Given the description of an element on the screen output the (x, y) to click on. 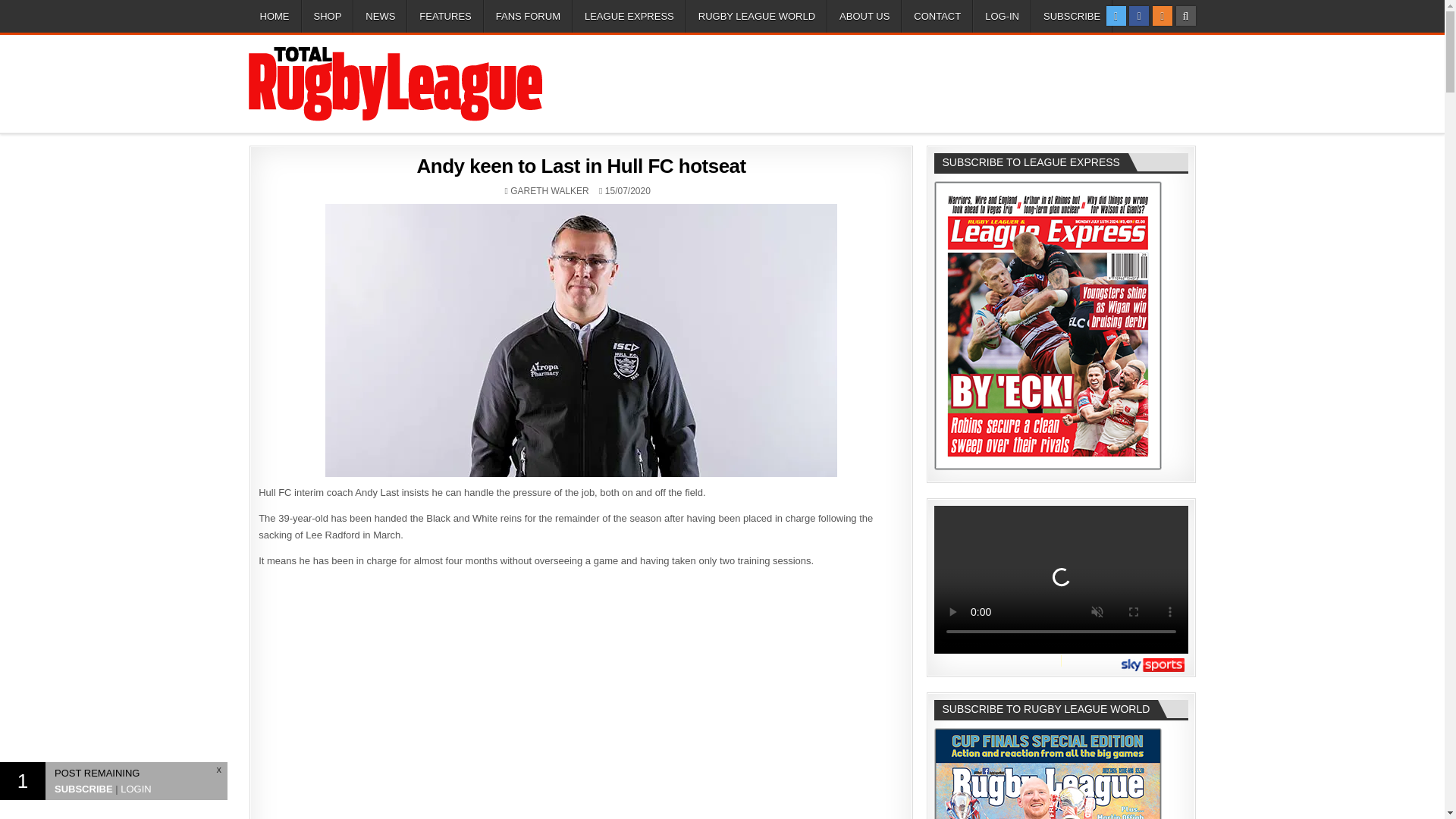
LOG-IN (1001, 16)
CONTACT (936, 16)
Andy keen to Last in Hull FC hotseat (580, 165)
FEATURES (445, 16)
SHOP (327, 16)
Twitter (1115, 15)
NEWS (380, 16)
FANS FORUM (527, 16)
GARETH WALKER (550, 190)
Facebook (1138, 15)
Search (1184, 15)
ABOUT US (864, 16)
RUGBY LEAGUE WORLD (756, 16)
RSS (1162, 15)
